Given the description of an element on the screen output the (x, y) to click on. 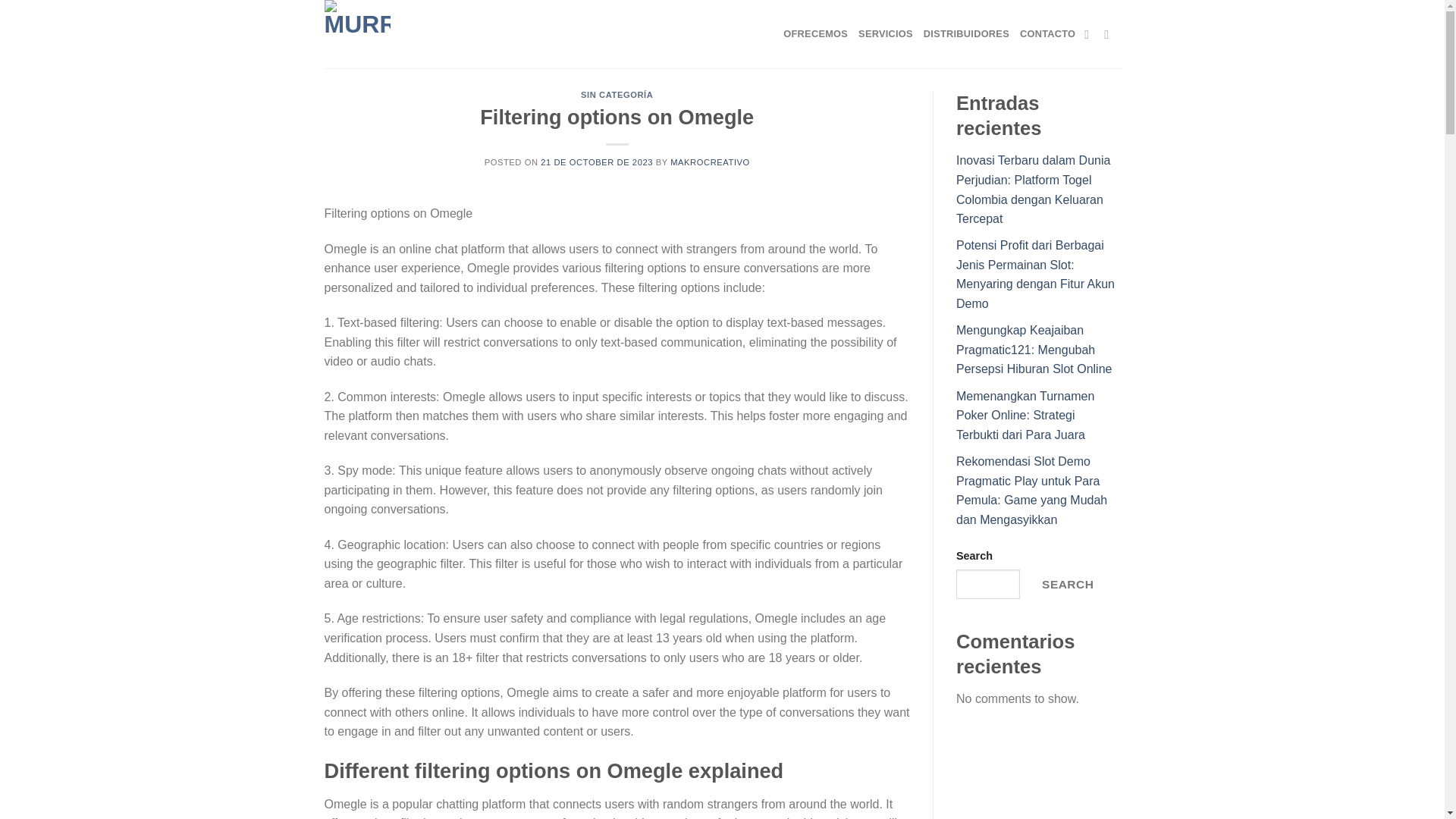
21 DE OCTOBER DE 2023 (596, 162)
SERVICIOS (885, 33)
MAKROCREATIVO (709, 162)
Follow on Facebook (1090, 33)
DISTRIBUIDORES (966, 33)
Send us an email (1109, 33)
OFRECEMOS (815, 33)
CONTACTO (1047, 33)
Murr - Partes para motor y Tractopartes (360, 33)
SEARCH (1067, 583)
